Given the description of an element on the screen output the (x, y) to click on. 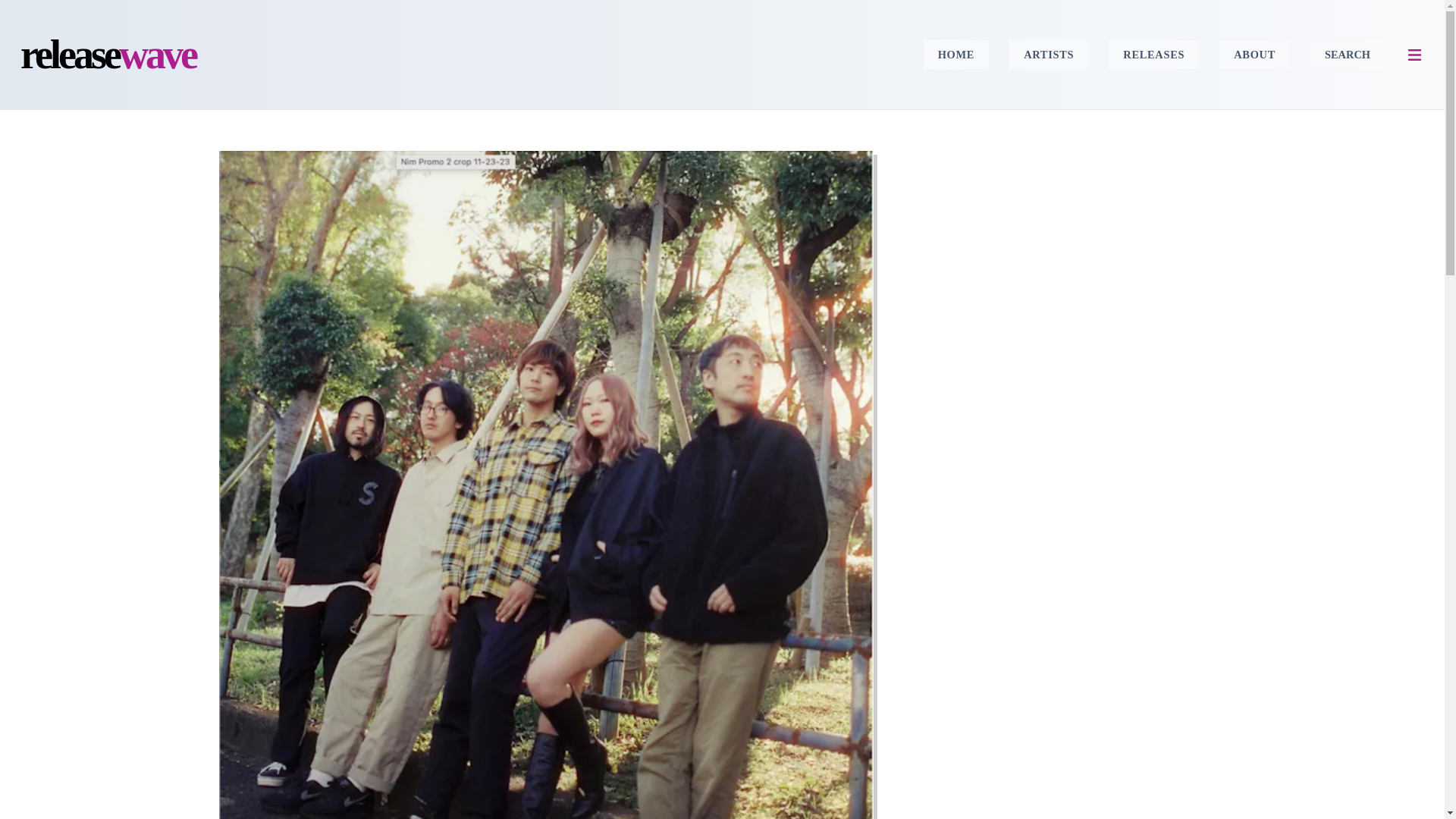
RELEASES (1153, 54)
ARTISTS (1048, 54)
Home on Release Wave (955, 54)
SEARCH (1347, 54)
Releases on Release Wave (107, 54)
About on Release Wave (1153, 54)
Artists on Release Wave (1255, 54)
ABOUT (1048, 54)
HOME (1255, 54)
